Given the description of an element on the screen output the (x, y) to click on. 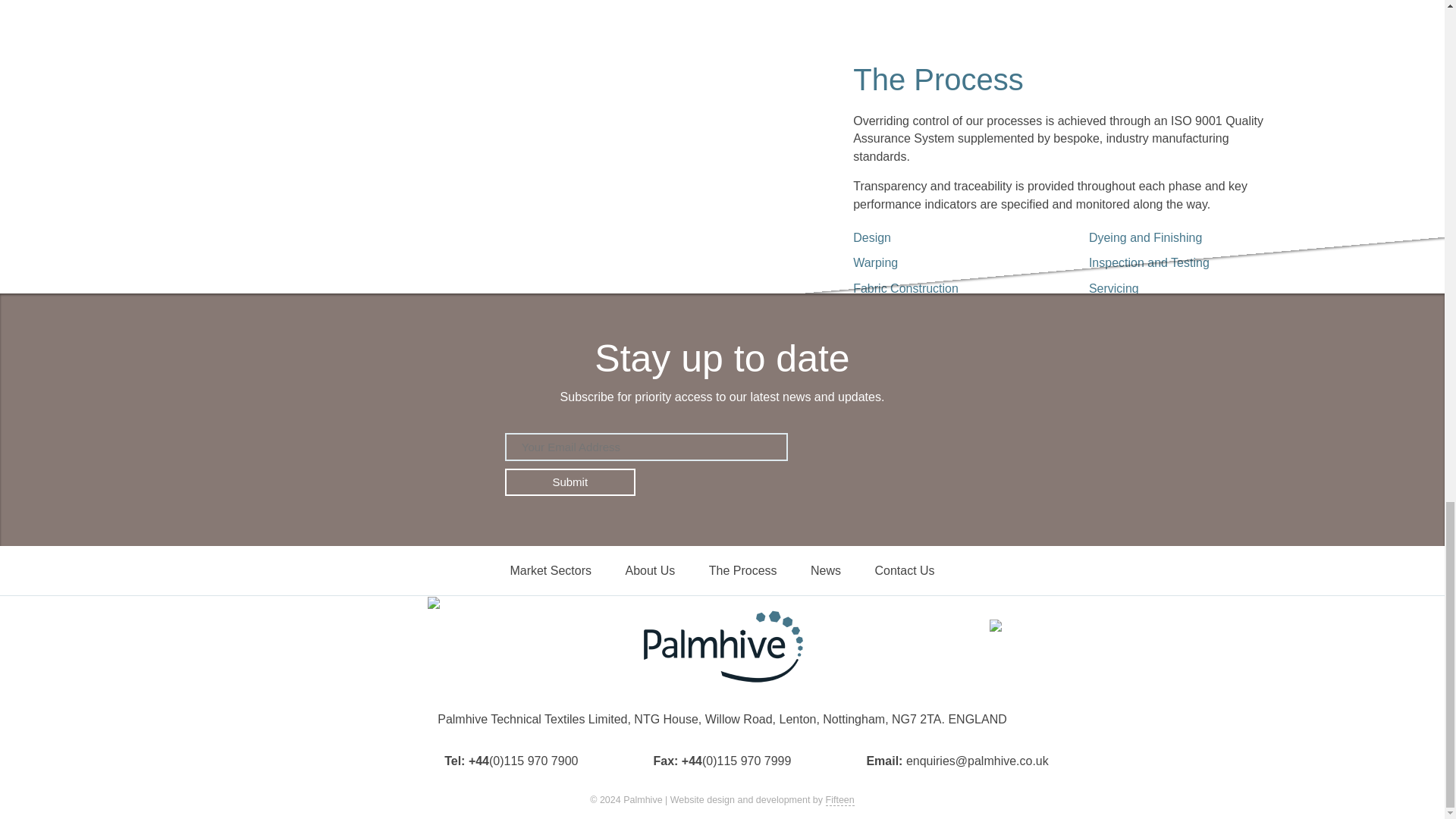
Warping (948, 262)
The Process (743, 570)
News (825, 570)
Servicing (1184, 287)
Fabric Construction (948, 287)
Submit (569, 482)
Submit (569, 482)
Inspection and Testing (1184, 262)
Fifteen - Multi Award Winning Digital Agency (839, 799)
Design (948, 237)
